Given the description of an element on the screen output the (x, y) to click on. 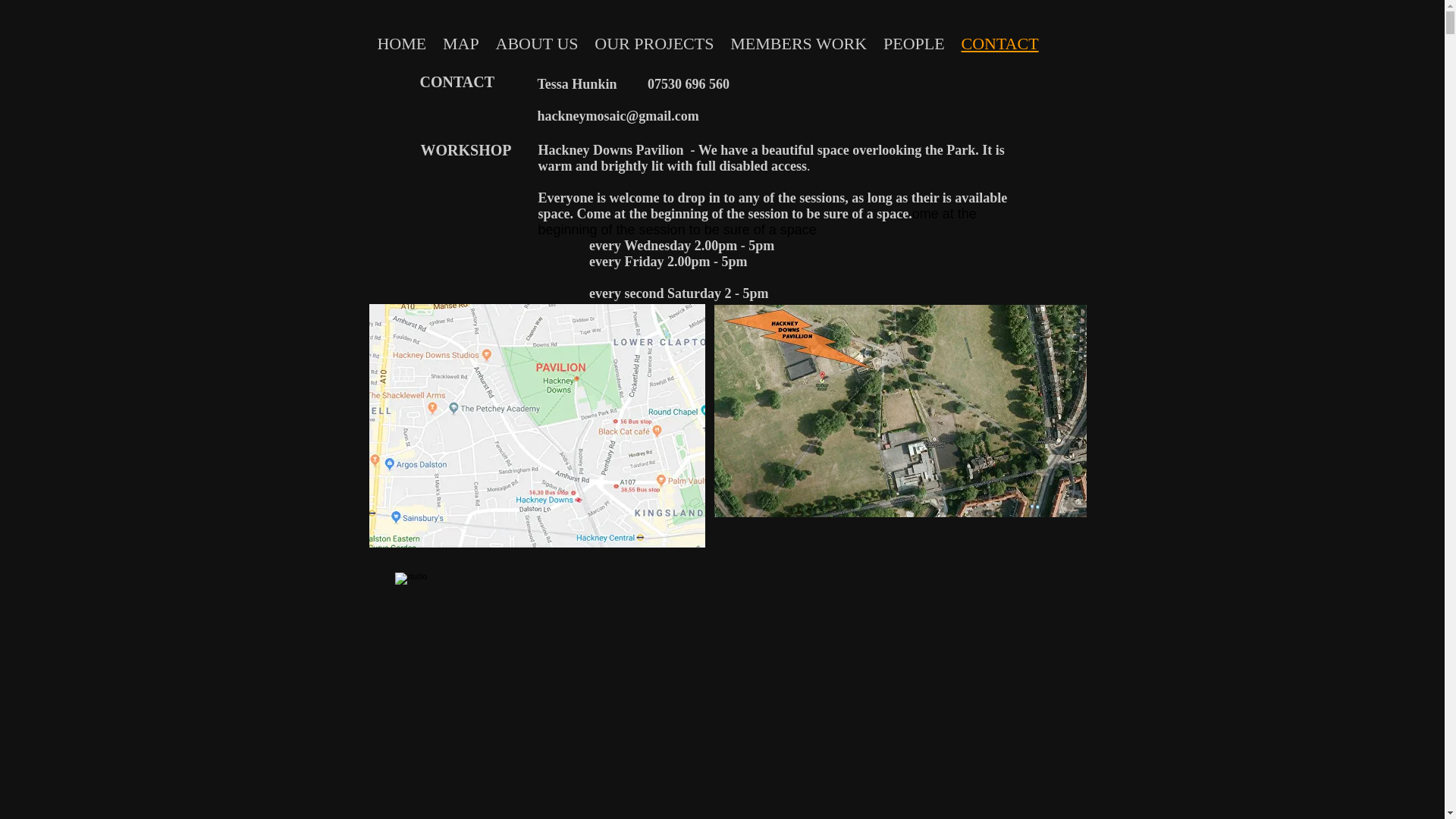
MEMBERS WORK (798, 43)
MAP (460, 43)
CONTACT (999, 43)
OUR PROJECTS (654, 43)
HOME (400, 43)
ABOUT US (536, 43)
PEOPLE (914, 43)
